Given the description of an element on the screen output the (x, y) to click on. 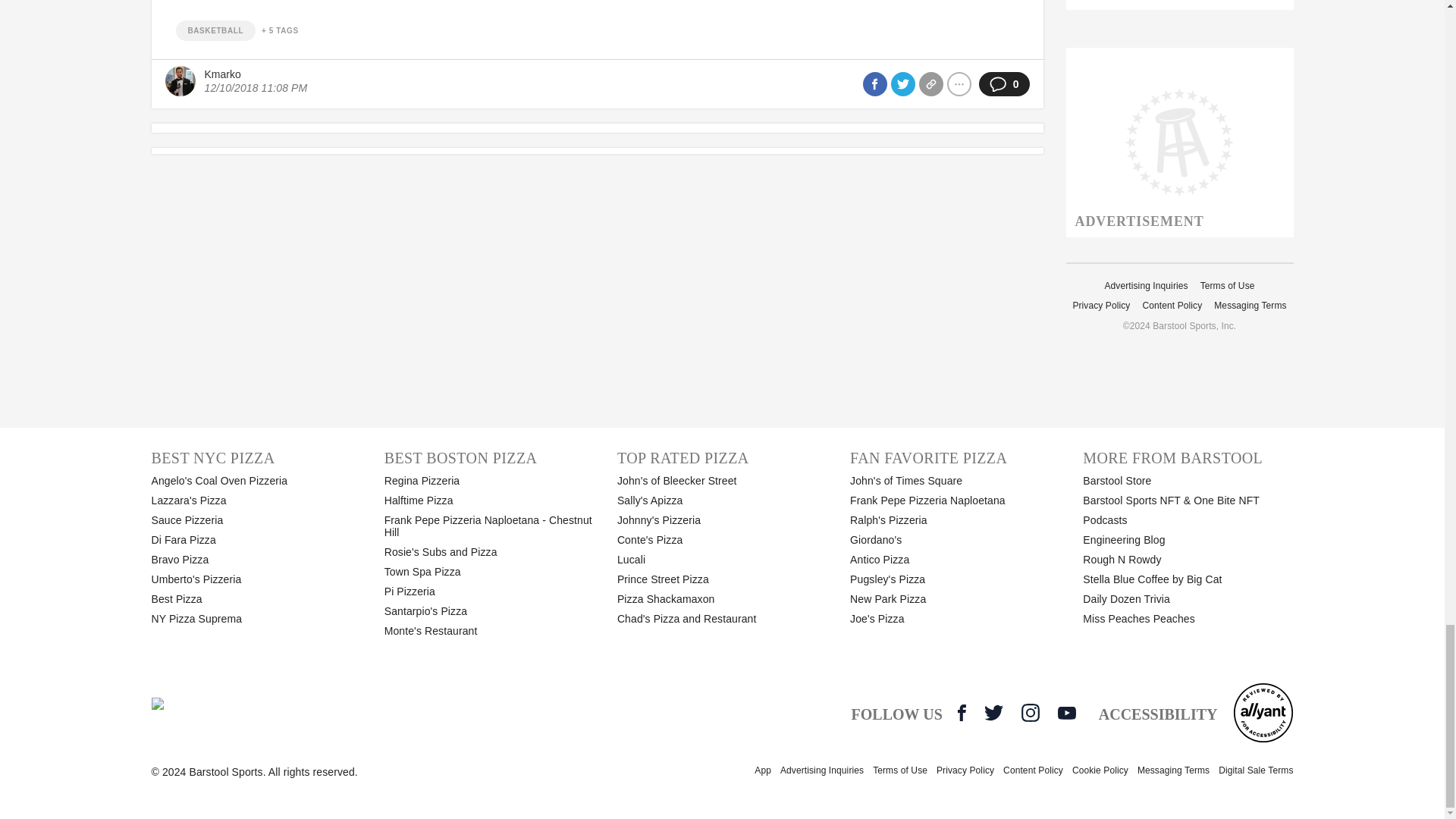
Twitter Icon (993, 712)
Instagram Icon (1030, 712)
Reviewed by Allyant for accessibility (1263, 712)
YouTube Icon (1066, 712)
